Given the description of an element on the screen output the (x, y) to click on. 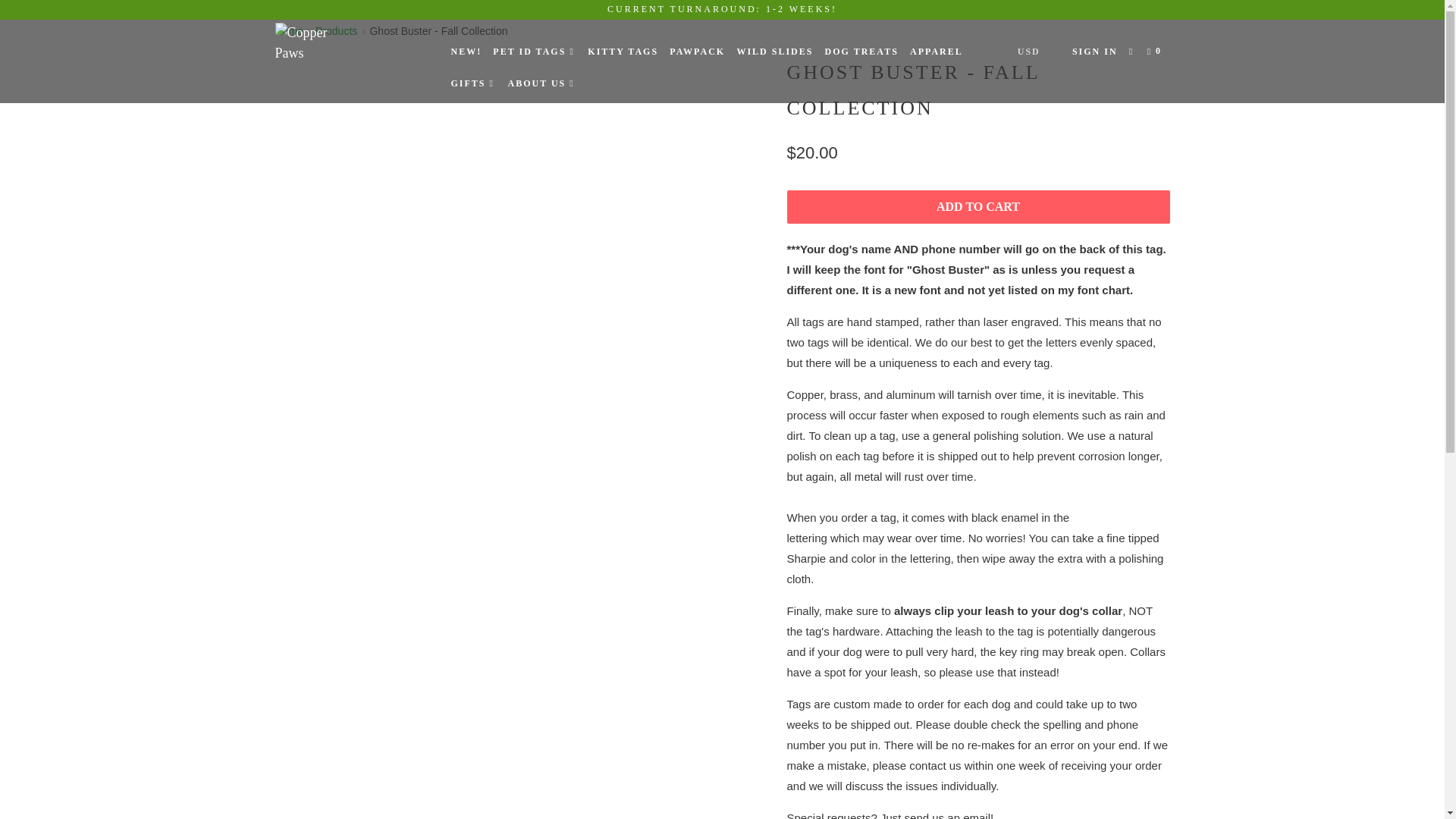
My Account  (1094, 51)
Copper Paws (352, 42)
Products (335, 30)
Copper Paws (288, 30)
PET ID TAGS (534, 51)
SIGN IN (1094, 51)
0 (1155, 51)
NEW! (465, 51)
